Given the description of an element on the screen output the (x, y) to click on. 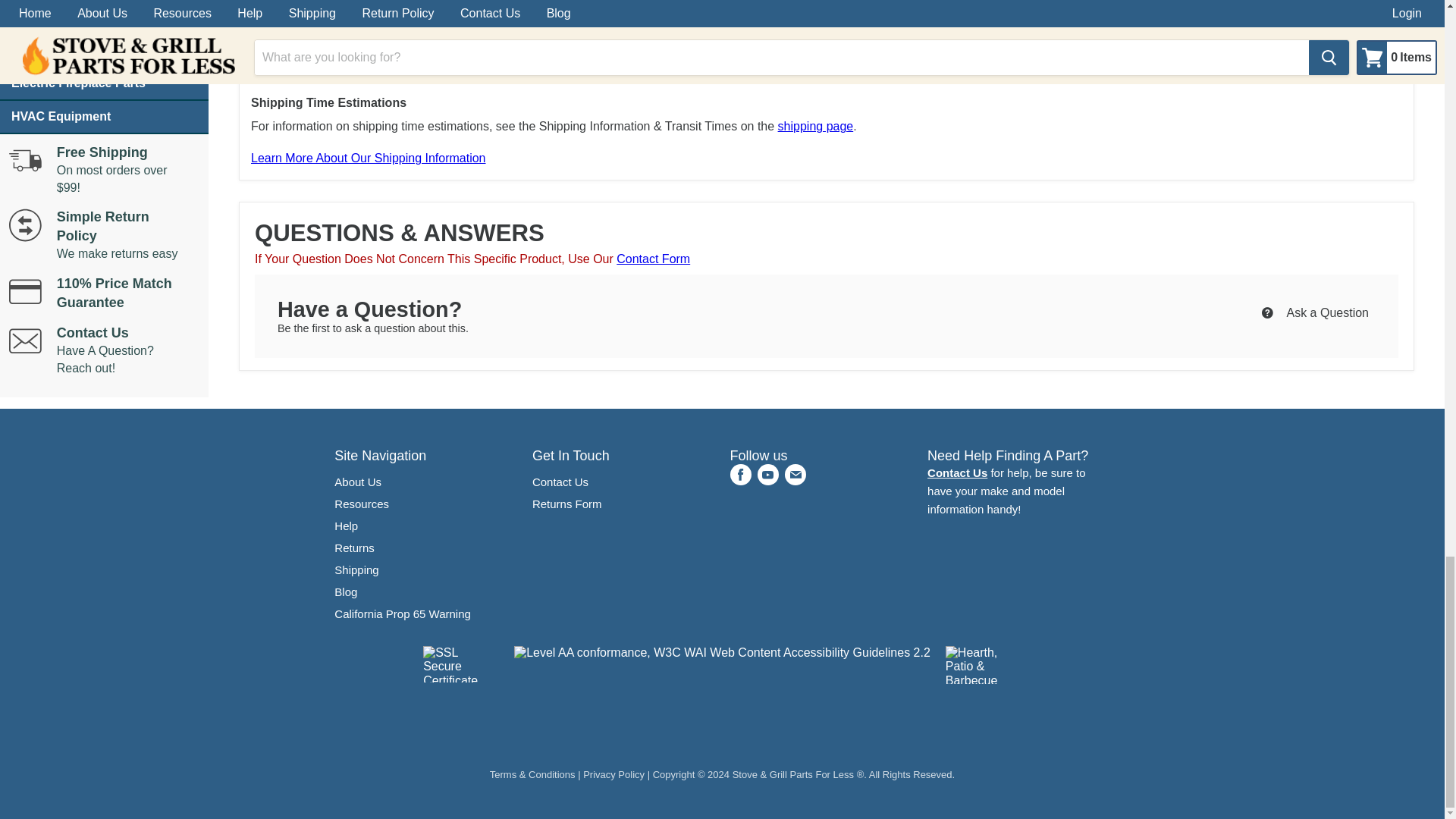
Contact Page (957, 472)
E-mail (794, 474)
Youtube (767, 474)
Explanation of WCAG 2 Level AA conformance (721, 653)
Facebook (740, 474)
